Given the description of an element on the screen output the (x, y) to click on. 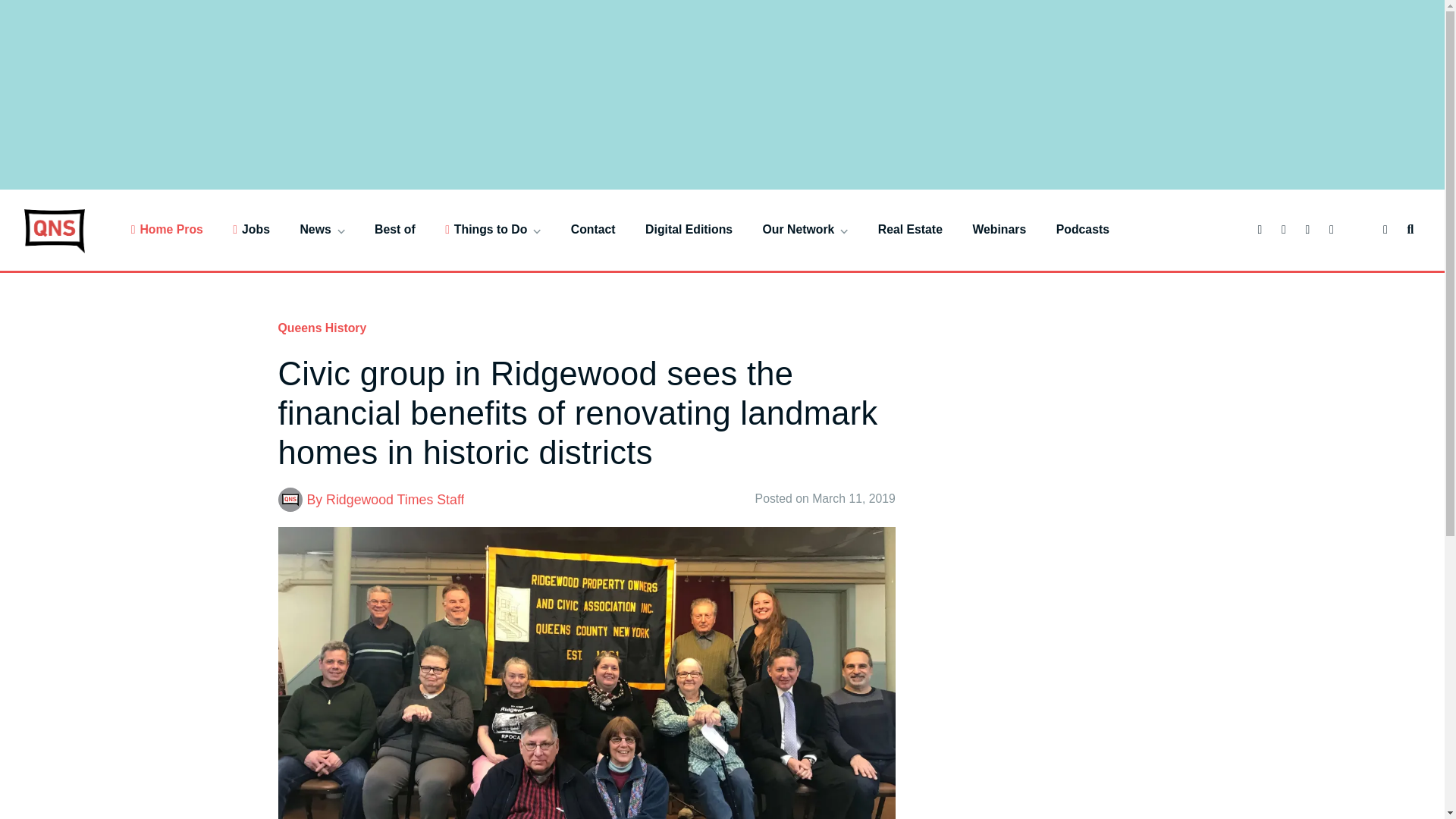
Home Pros (167, 228)
Best of (394, 228)
Real Estate (909, 228)
Contact (592, 228)
Podcasts (1083, 228)
News (321, 228)
Things to Do (492, 228)
Webinars (999, 228)
Jobs (250, 228)
Our Network (805, 228)
